Given the description of an element on the screen output the (x, y) to click on. 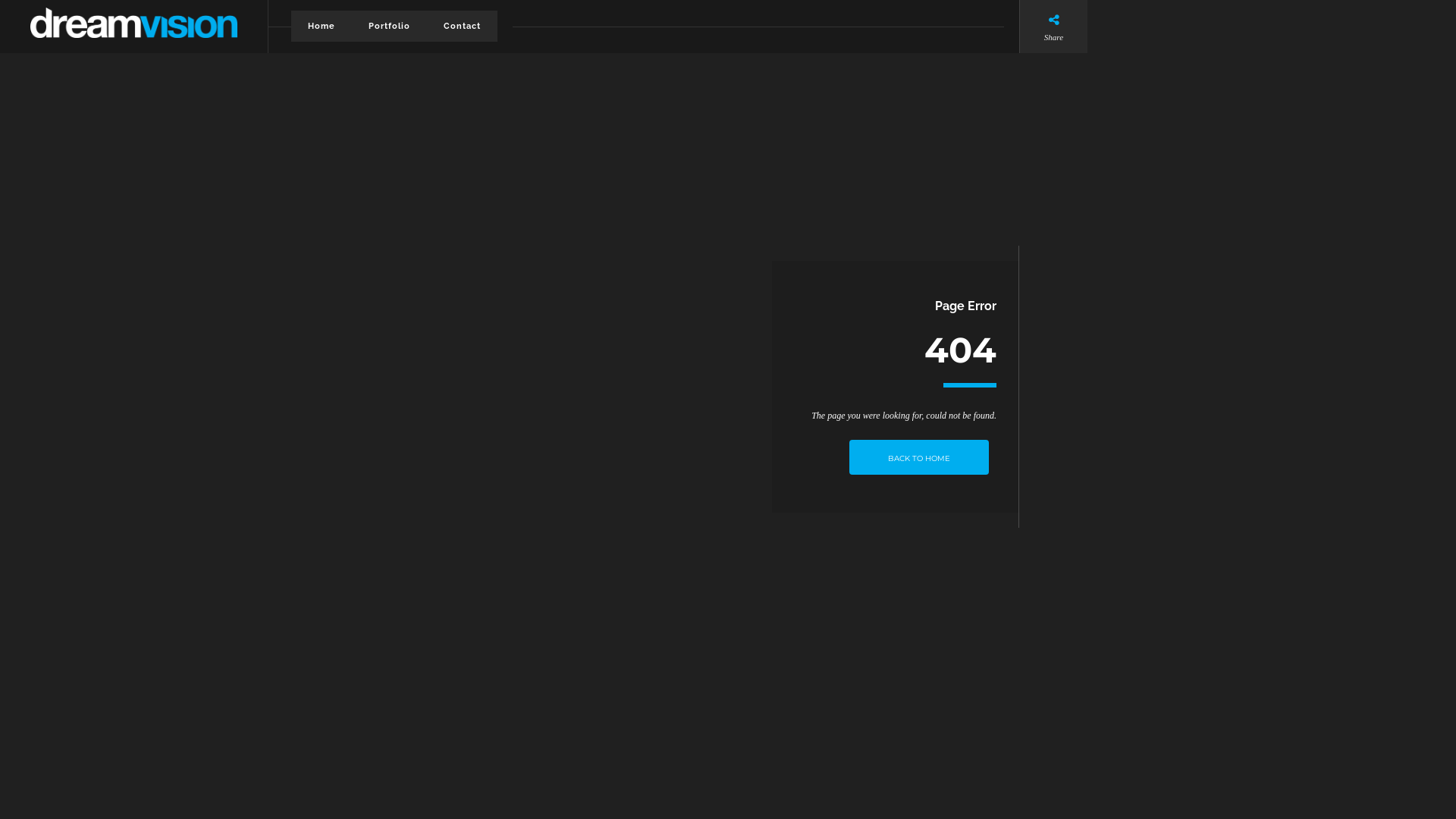
Home Element type: text (321, 25)
Contact Element type: text (461, 25)
Portfolio Element type: text (388, 25)
BACK TO HOME Element type: text (918, 456)
